Given the description of an element on the screen output the (x, y) to click on. 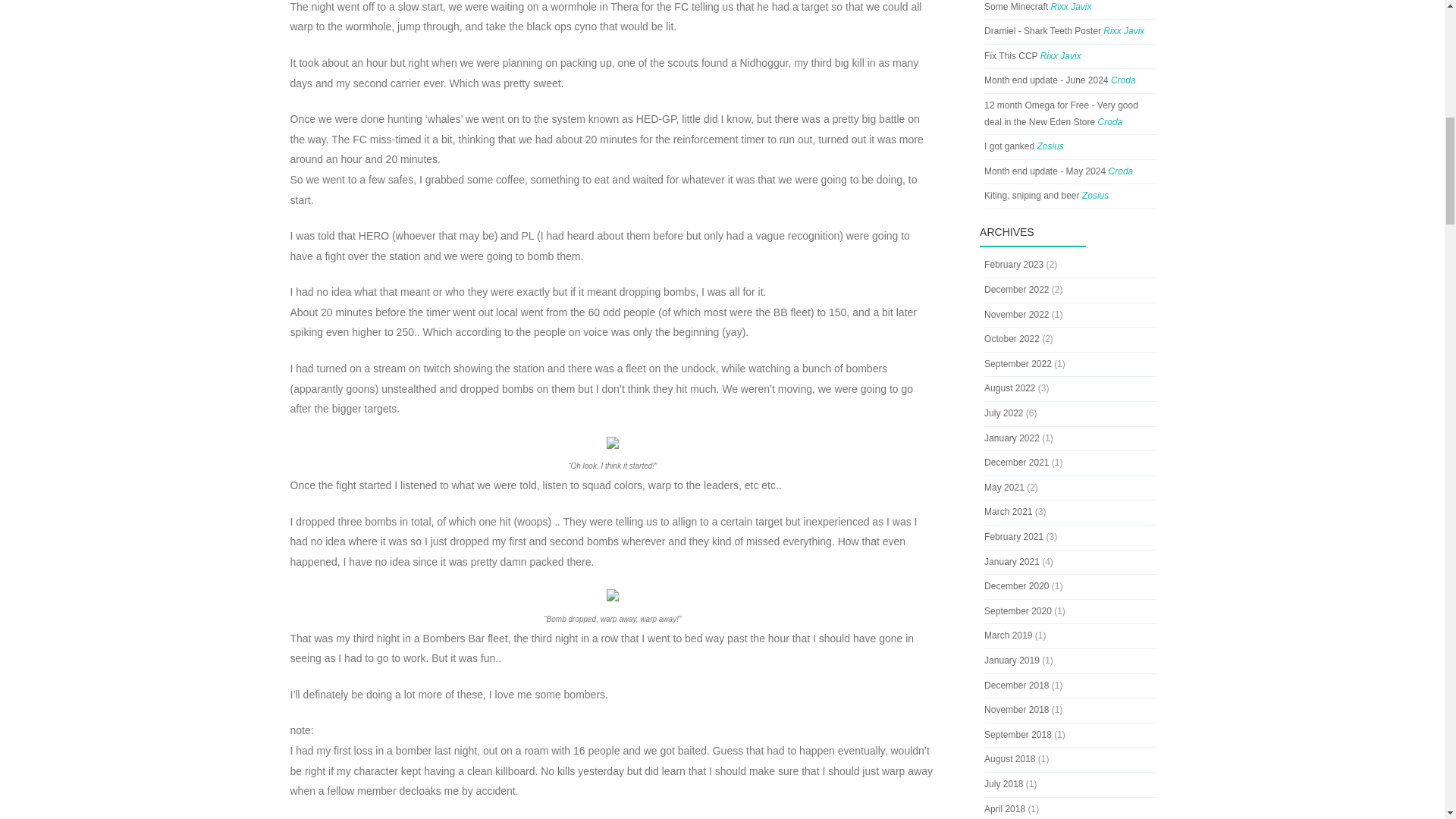
I got ganked (1008, 145)
Some Minecraft (1016, 6)
Dramiel - Shark Teeth Poster (1042, 30)
Fix This CCP (1010, 55)
February 2023 (1013, 264)
Month end update - June 2024 (1046, 80)
Month end update - May 2024 (1044, 171)
Kiting, sniping and beer (1031, 195)
